Given the description of an element on the screen output the (x, y) to click on. 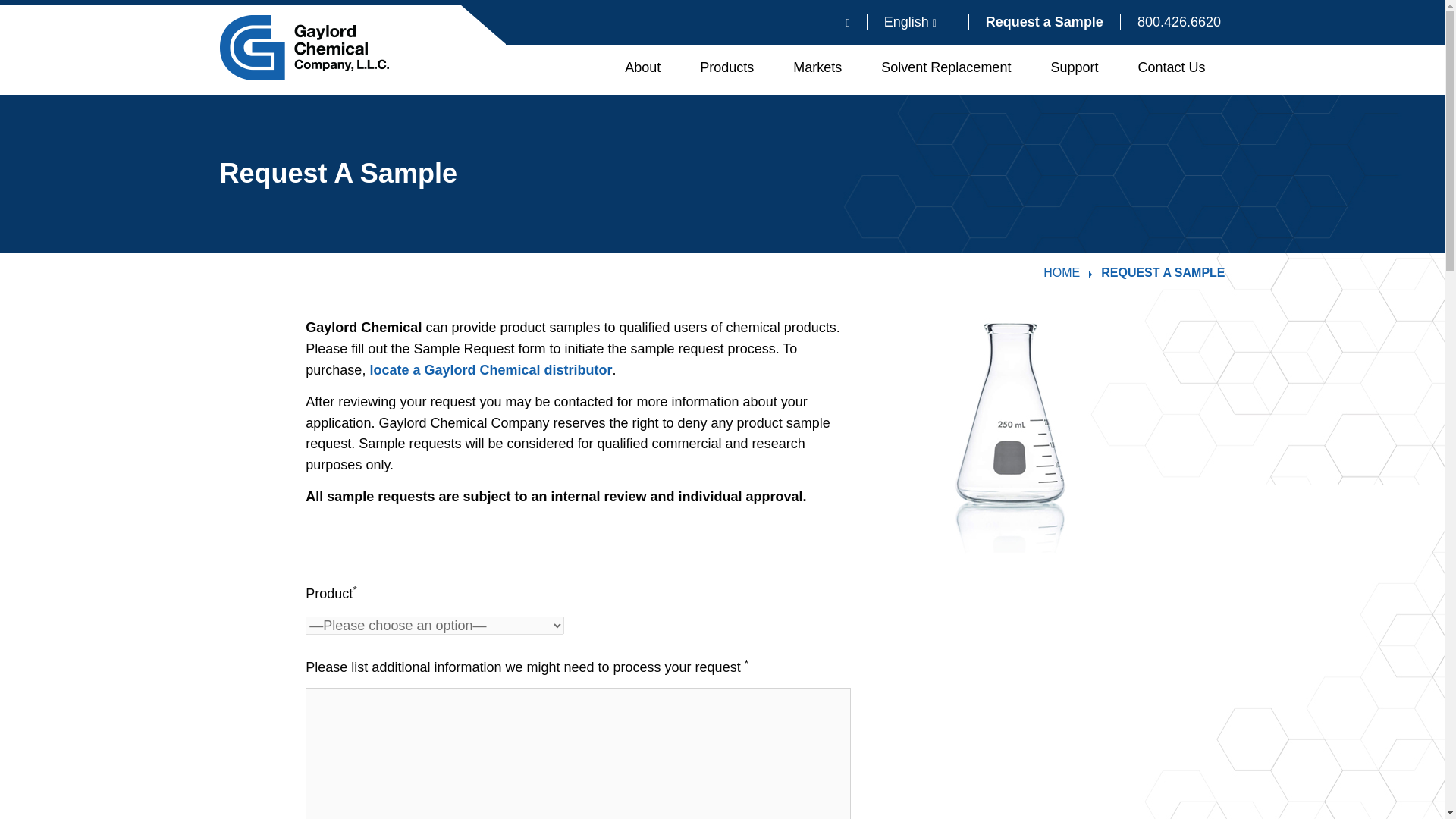
English (917, 22)
